Given the description of an element on the screen output the (x, y) to click on. 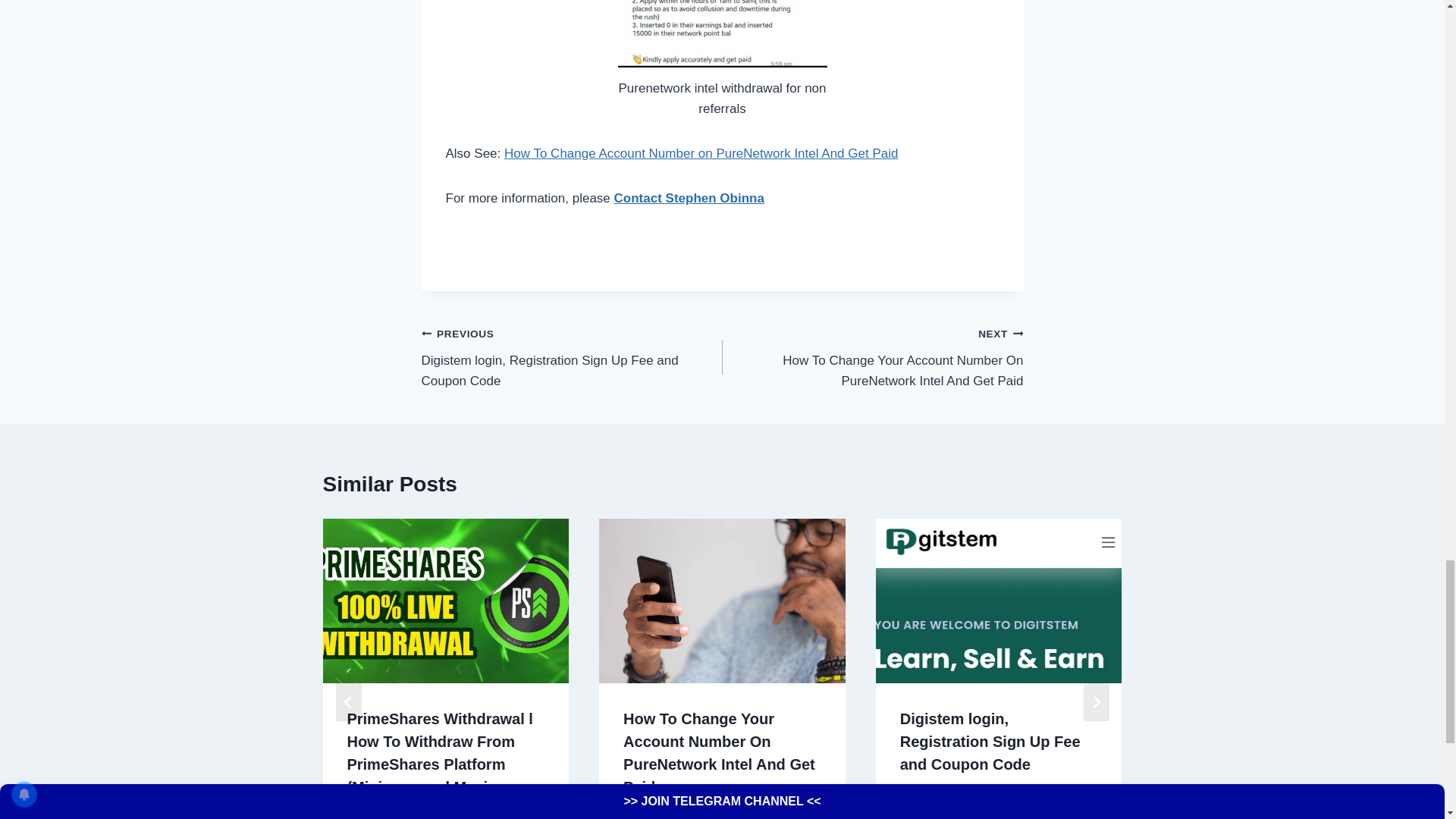
Contact Stephen Obinna (689, 197)
